Given the description of an element on the screen output the (x, y) to click on. 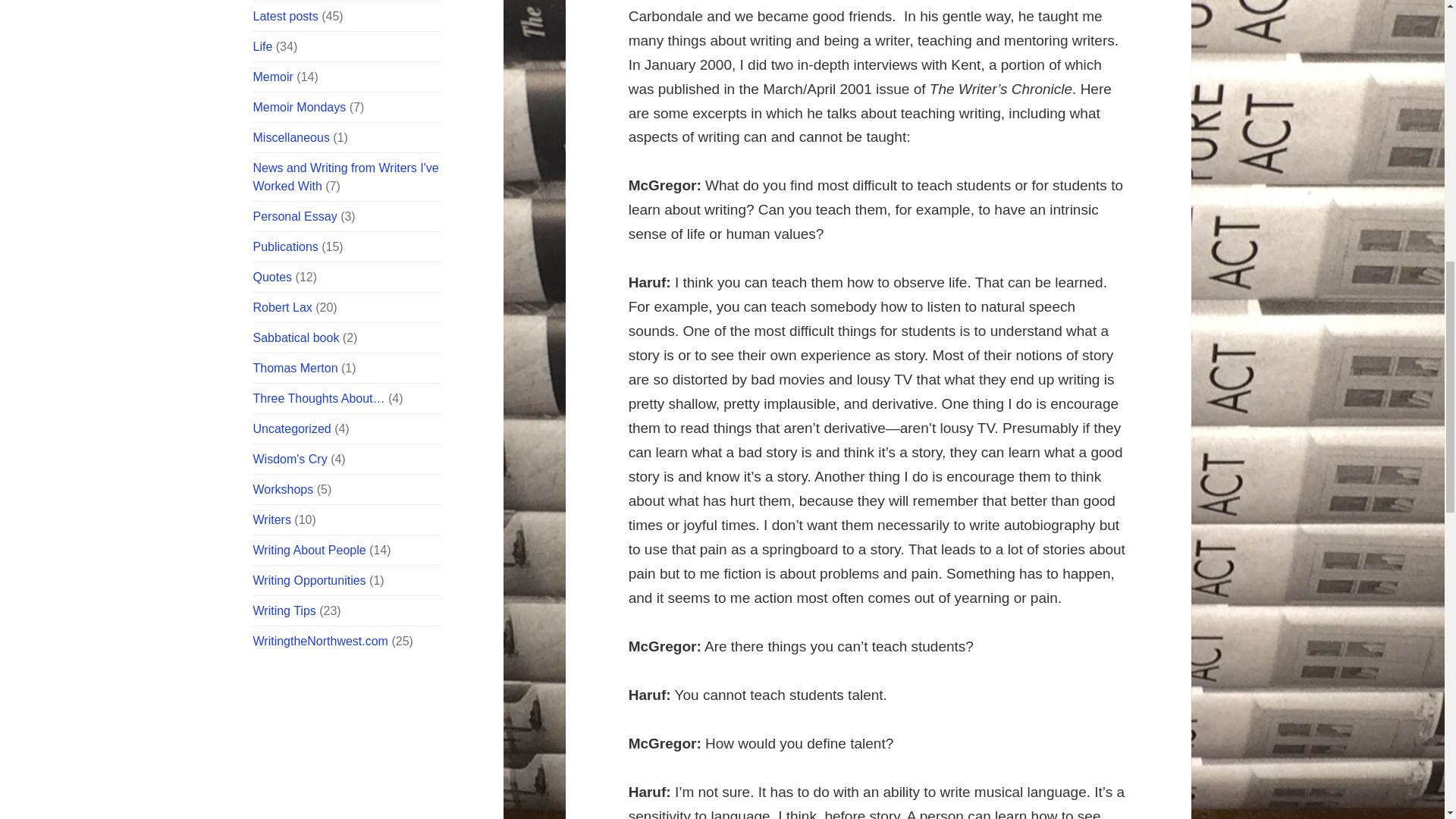
Publications (285, 246)
Writers (272, 519)
Memoir (273, 76)
Memoir Mondays (299, 106)
News and Writing from Writers I've Worked With (346, 176)
Latest posts (285, 15)
Miscellaneous (291, 137)
Quotes (272, 277)
Workshops (283, 489)
Wisdom's Cry (290, 459)
